Given the description of an element on the screen output the (x, y) to click on. 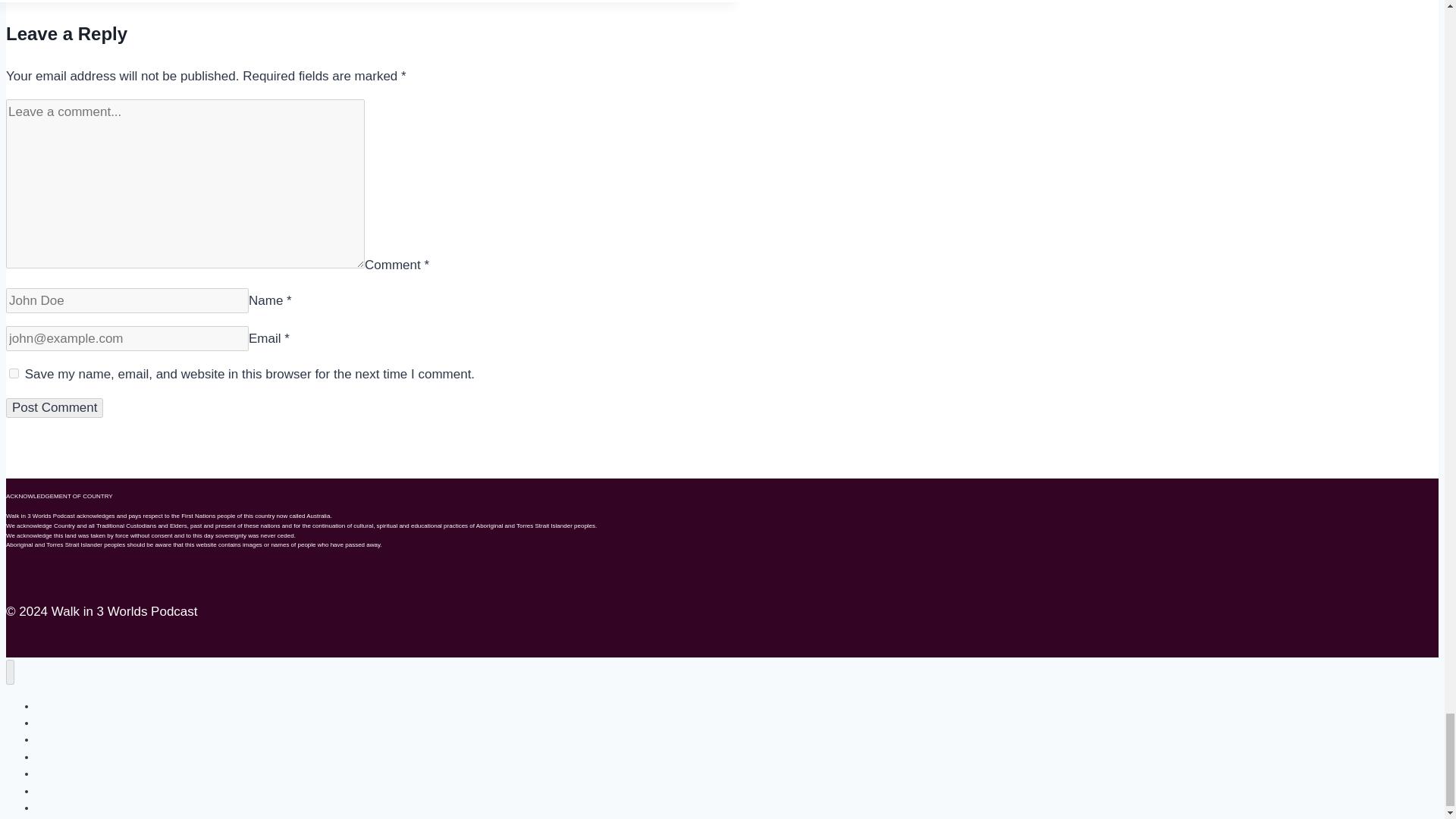
Post Comment (54, 407)
yes (13, 373)
